Given the description of an element on the screen output the (x, y) to click on. 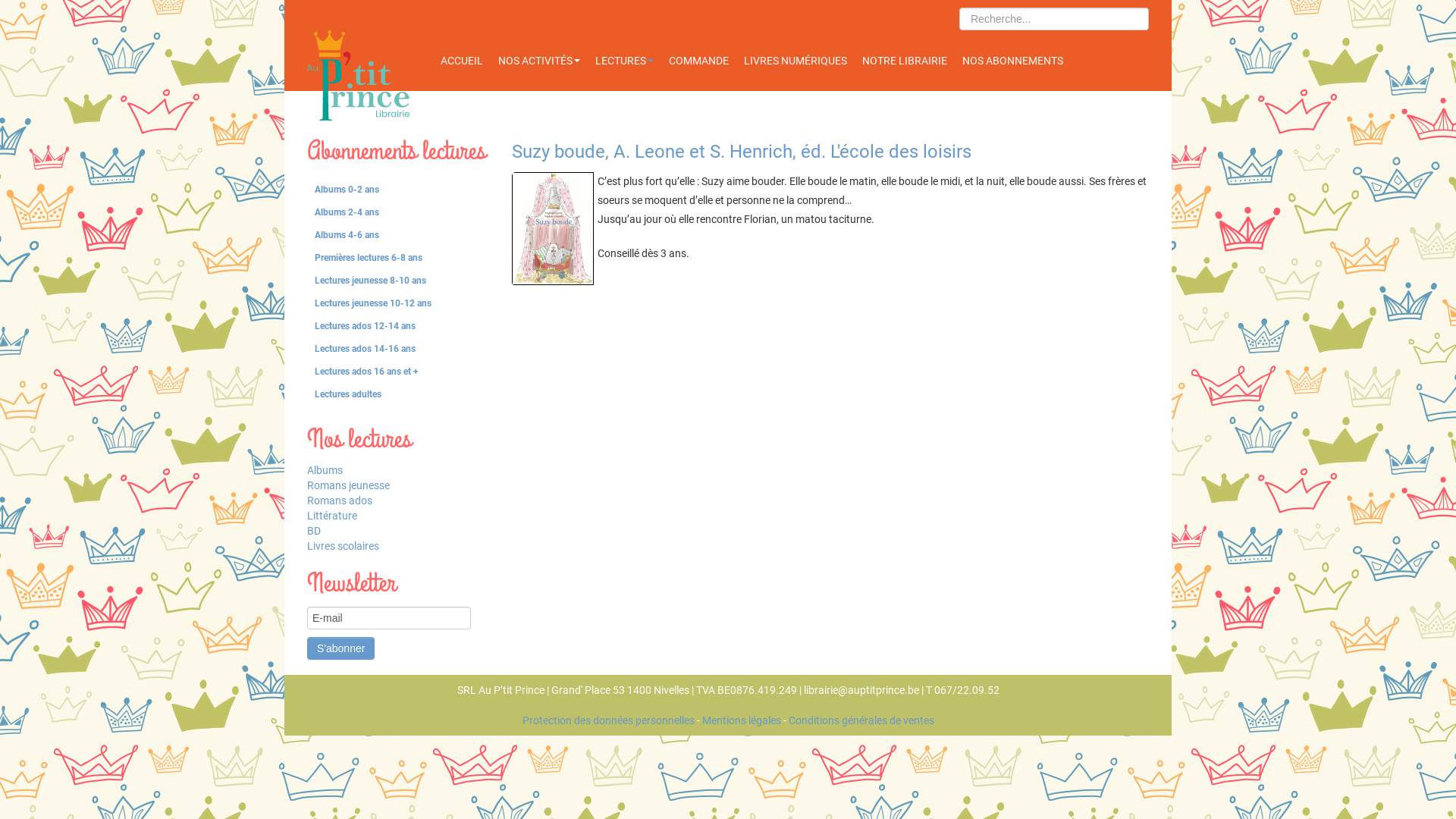
Albums 2-4 ans Element type: text (397, 211)
Romans ados Element type: text (398, 500)
Lectures ados 14-16 ans Element type: text (397, 348)
Albums Element type: text (398, 469)
Lectures jeunesse 10-12 ans Element type: text (397, 302)
Albums 4-6 ans Element type: text (397, 234)
Lectures ados 12-14 ans Element type: text (397, 325)
ACCUEIL Element type: text (460, 60)
Albums 0-2 ans Element type: text (397, 189)
S'abonner Element type: text (340, 648)
Livres scolaires Element type: text (398, 545)
librairie@auptitprince.be Element type: text (861, 690)
LECTURES Element type: text (623, 60)
COMMANDE Element type: text (698, 60)
Lectures ados 16 ans et + Element type: text (397, 371)
BD Element type: text (398, 530)
Romans jeunesse Element type: text (398, 484)
Lectures adultes Element type: text (397, 393)
Lectures jeunesse 8-10 ans Element type: text (397, 280)
NOS ABONNEMENTS Element type: text (1011, 60)
E-mail Element type: hover (388, 617)
NOTRE LIBRAIRIE Element type: text (903, 60)
